Given the description of an element on the screen output the (x, y) to click on. 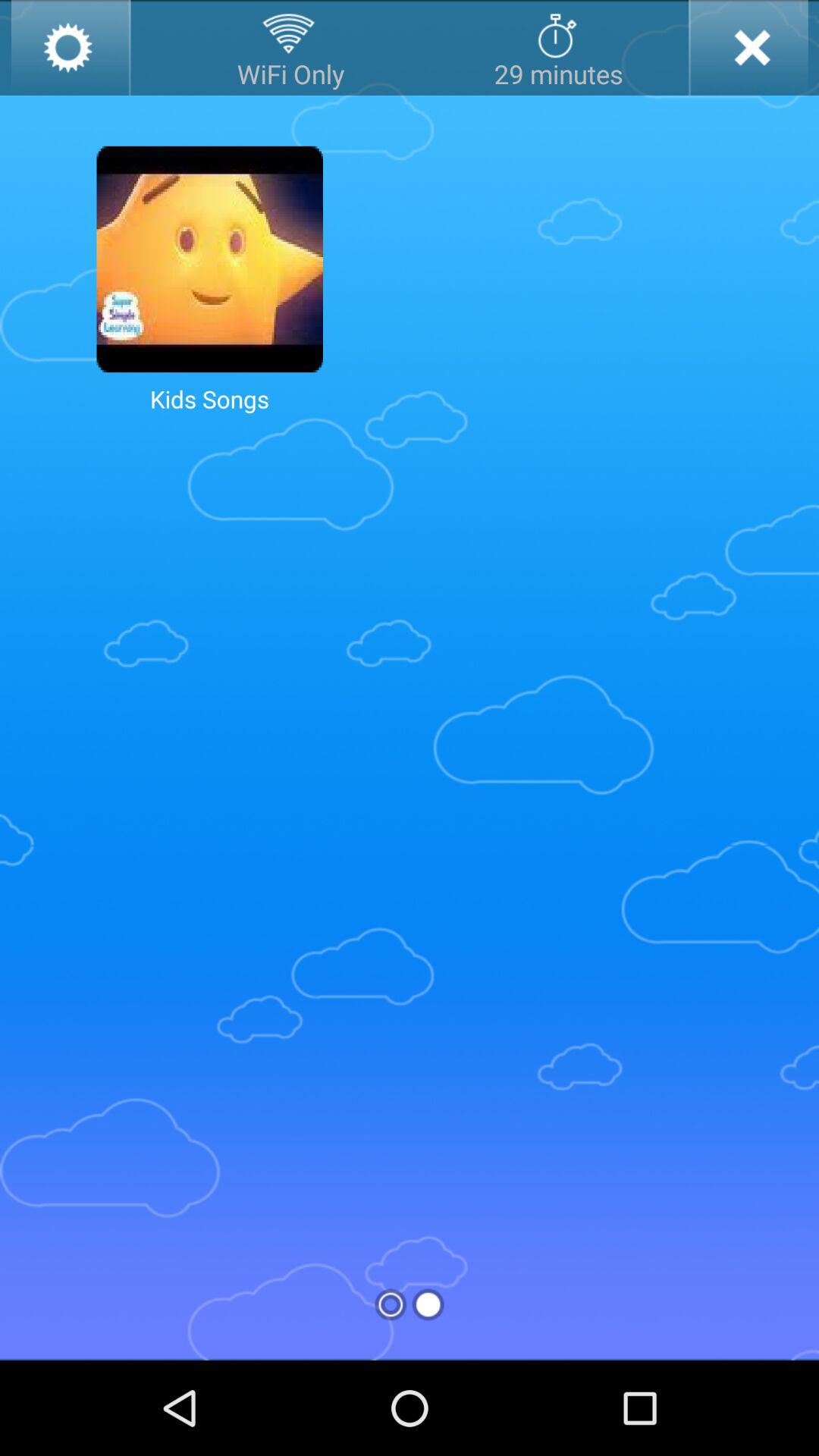
close button (748, 47)
